Given the description of an element on the screen output the (x, y) to click on. 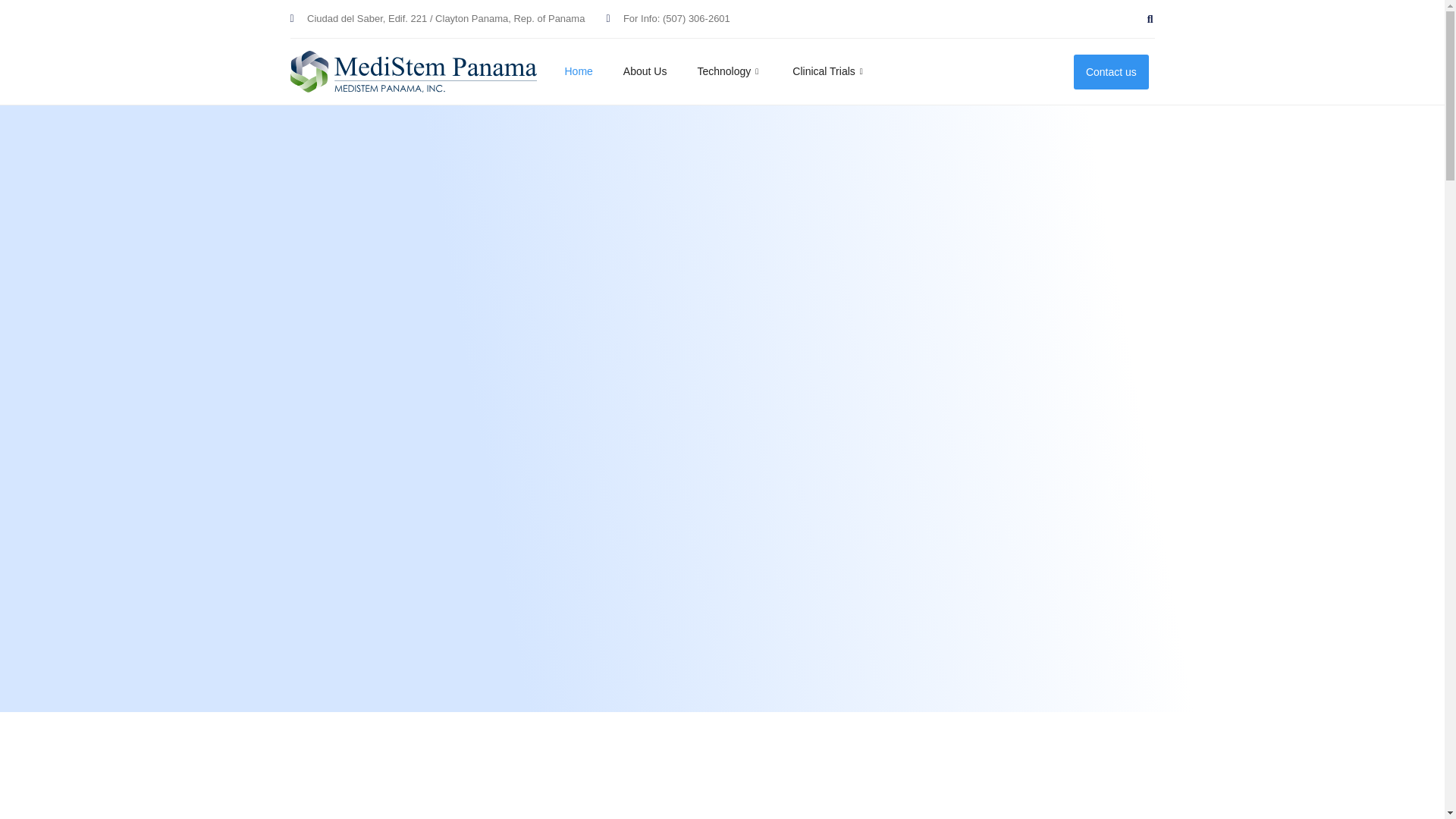
About Us (660, 71)
Contact us (1111, 71)
Technology (744, 71)
Clinical Trials (844, 71)
